Given the description of an element on the screen output the (x, y) to click on. 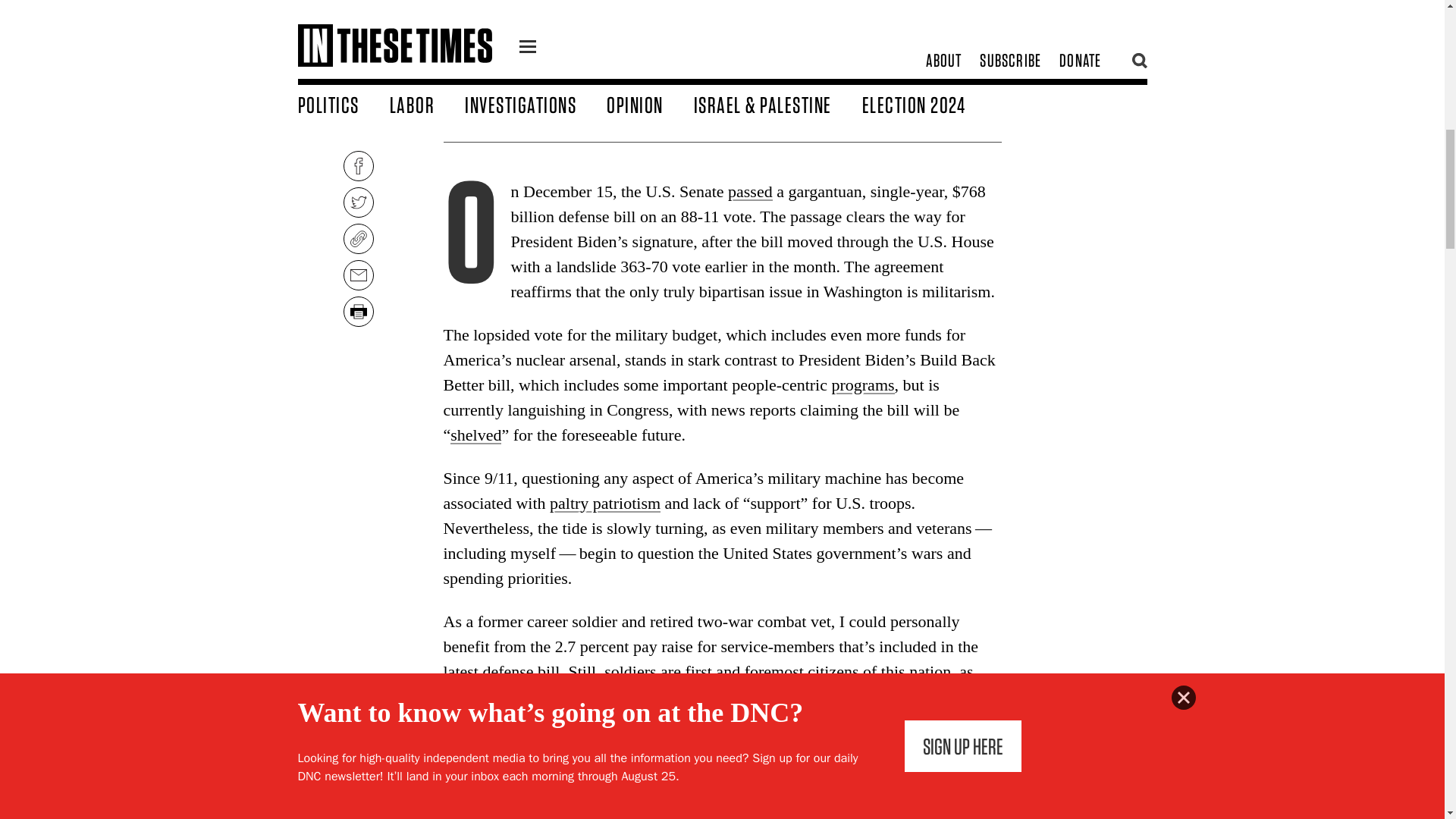
passed (750, 190)
shelved (474, 434)
paid family leave (668, 789)
programs (862, 384)
paltry patriotism (605, 502)
